Given the description of an element on the screen output the (x, y) to click on. 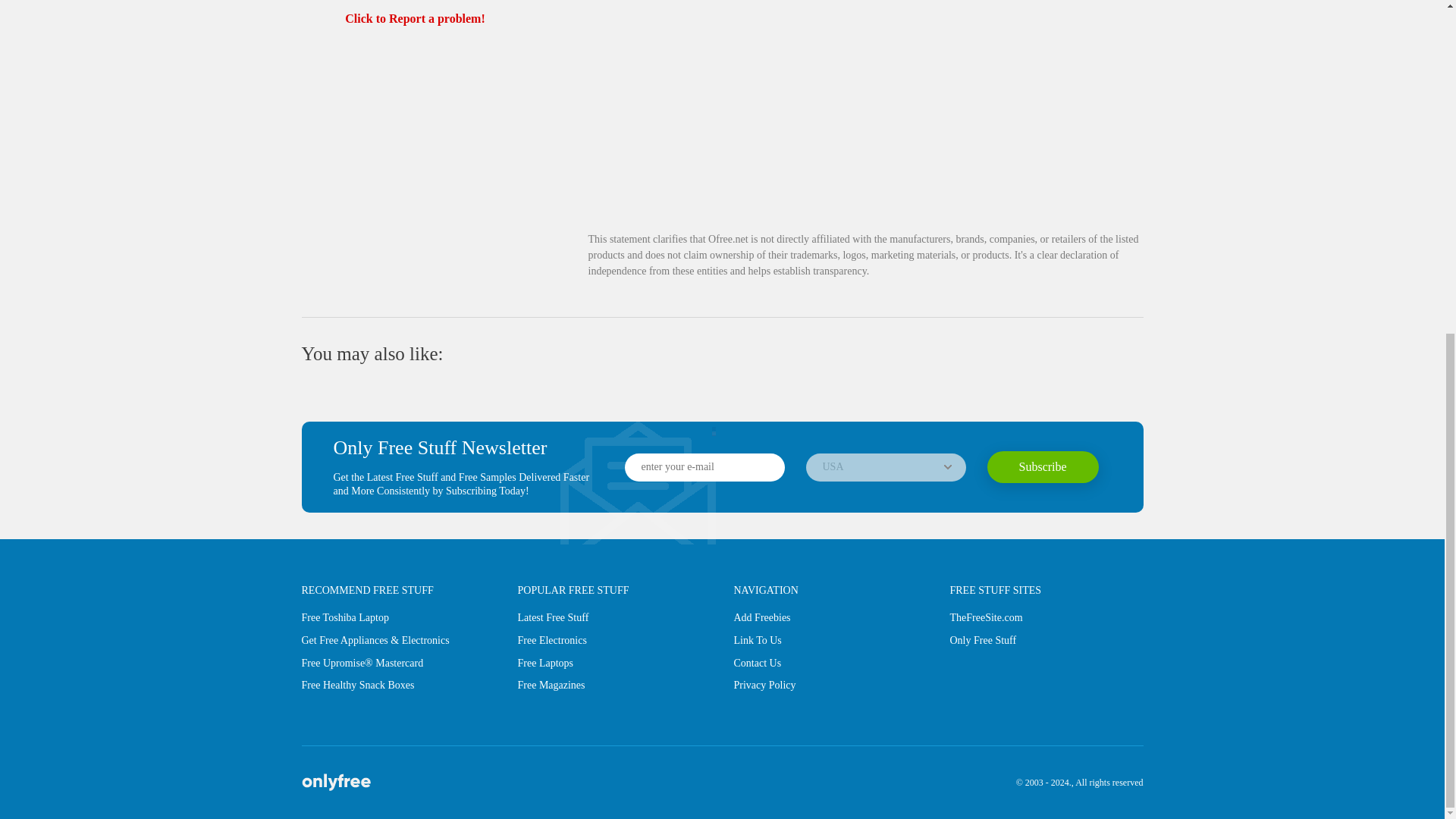
Subscribe (1043, 467)
